Given the description of an element on the screen output the (x, y) to click on. 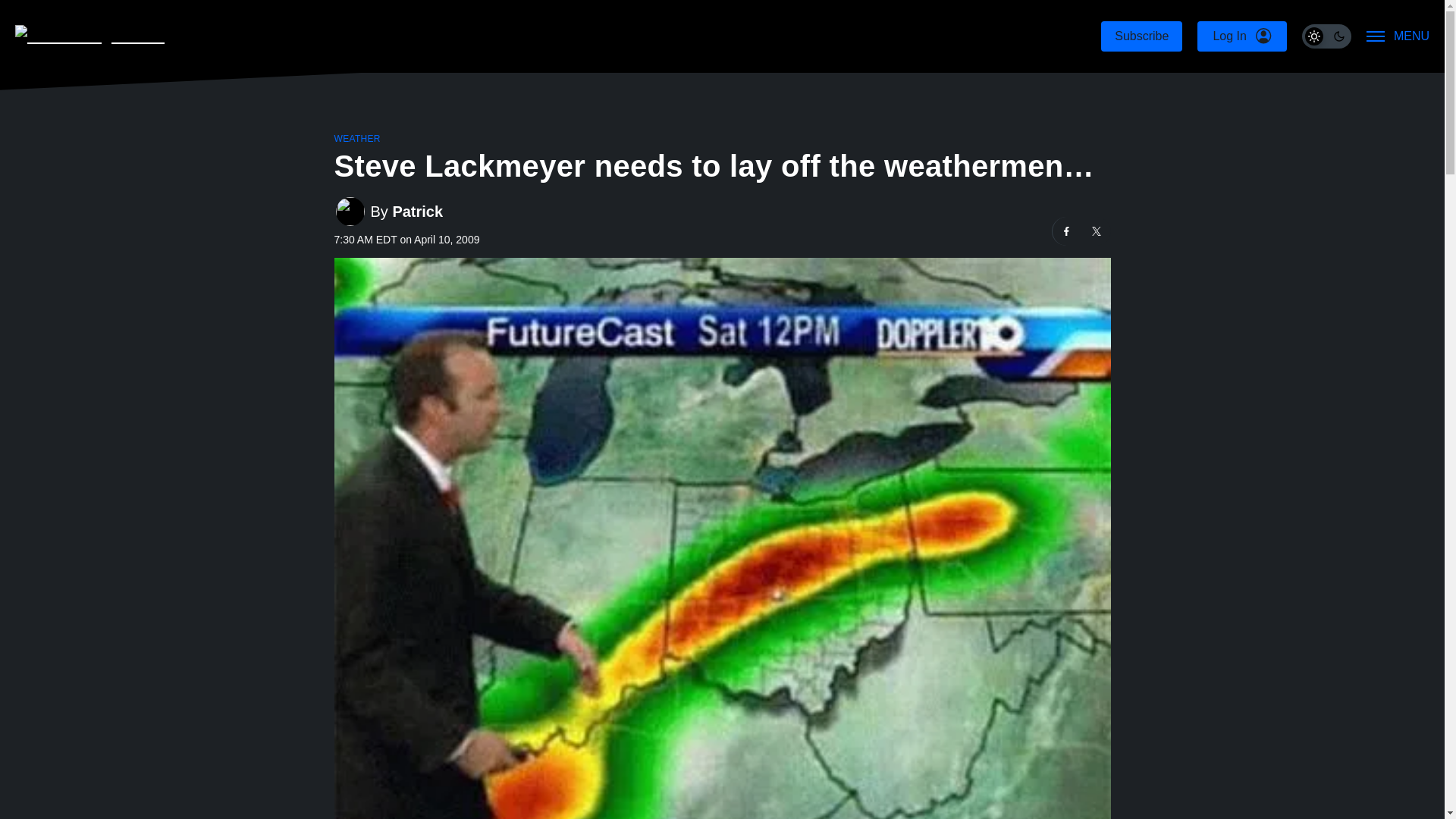
WEATHER (356, 138)
MENU (1398, 36)
Patrick (416, 211)
Log In (1240, 36)
Share on Facebook (1066, 231)
Subscribe (1141, 36)
